Given the description of an element on the screen output the (x, y) to click on. 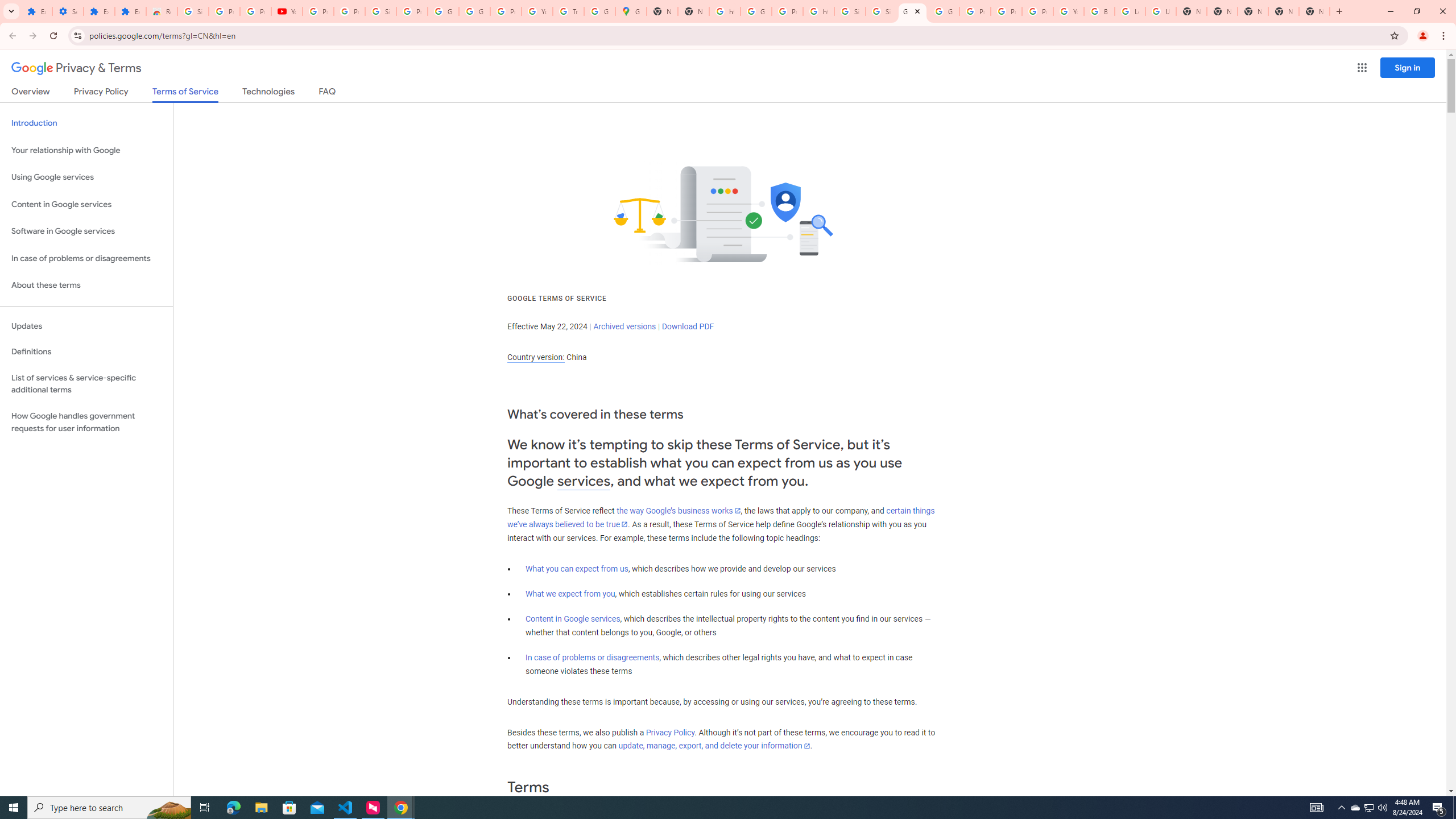
Content in Google services (572, 618)
What you can expect from us (576, 568)
Download PDF (687, 326)
Country version: (535, 357)
